Given the description of an element on the screen output the (x, y) to click on. 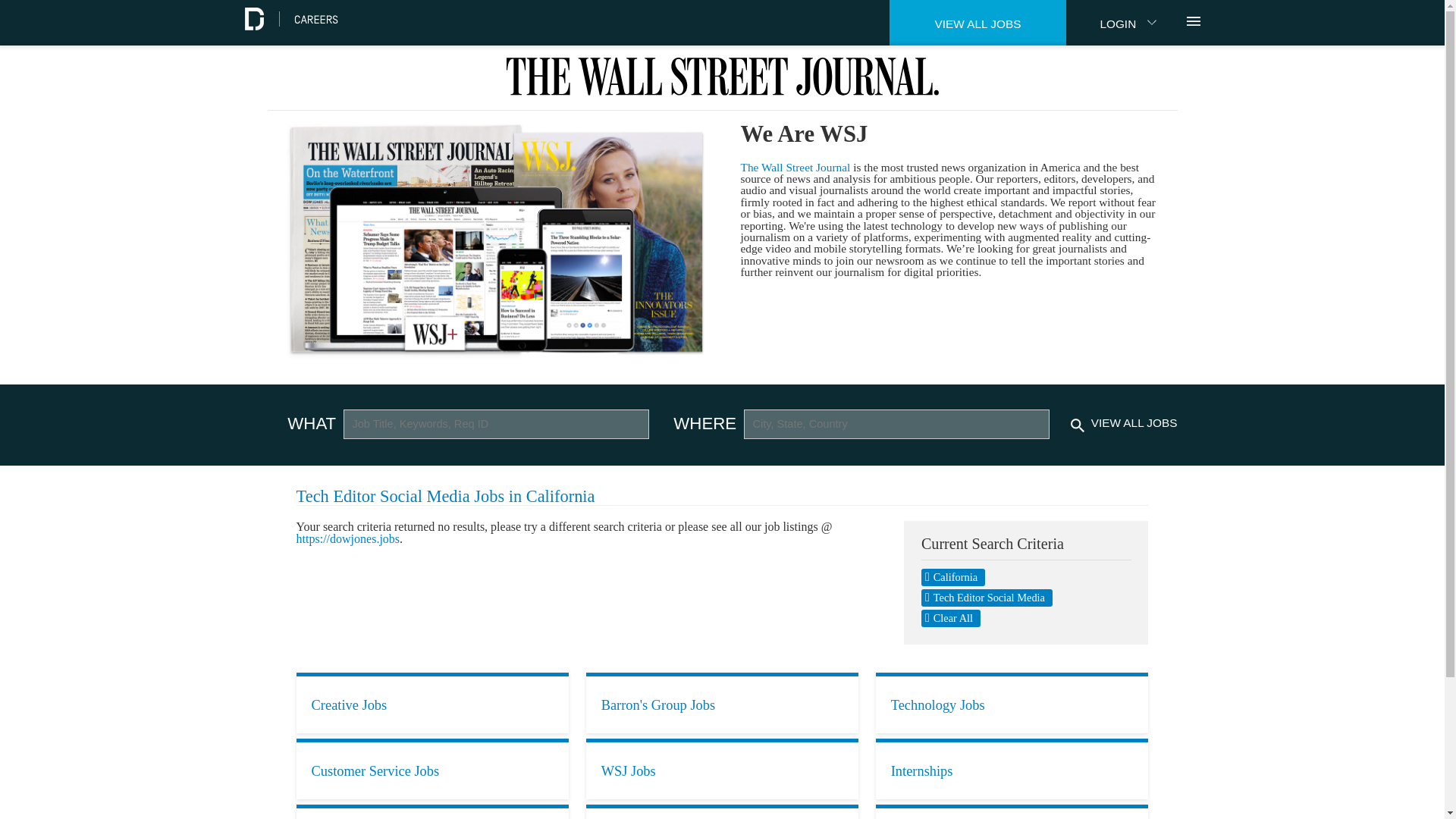
WSJ Jobs (722, 768)
Data Strategy Jobs (433, 811)
California (953, 577)
VIEW ALL JOBS (1133, 422)
LOGIN (1125, 22)
Customer Service Jobs (433, 768)
VIEW ALL JOBS (978, 22)
Tech Editor Social Media (986, 597)
Search Location (896, 423)
The Wall Street Journal (794, 166)
Barron's Group Jobs (722, 702)
Remove (986, 597)
Creative Jobs (433, 702)
Remove (953, 577)
Remove (950, 618)
